Given the description of an element on the screen output the (x, y) to click on. 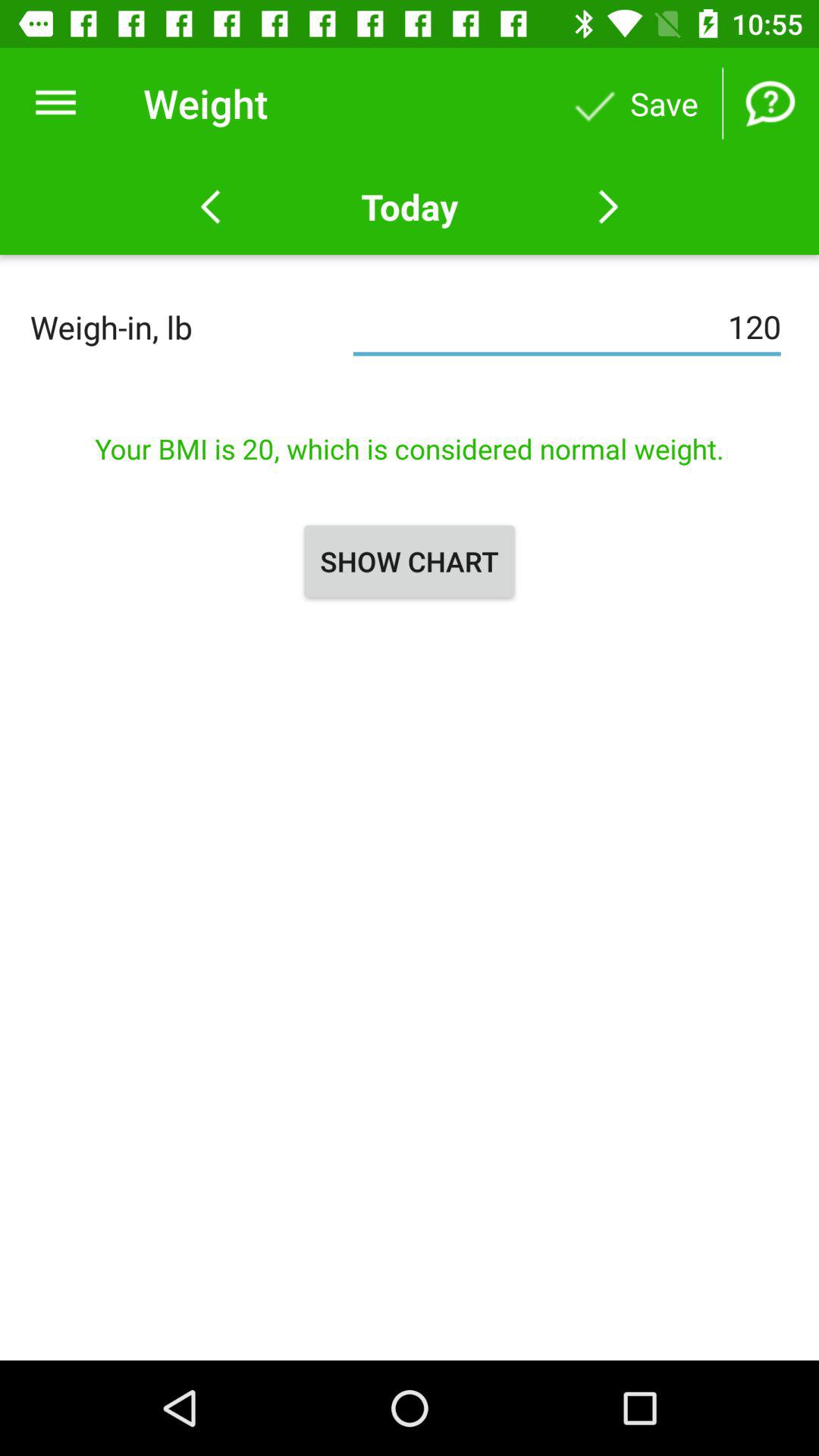
scroll to the show chart item (409, 561)
